Given the description of an element on the screen output the (x, y) to click on. 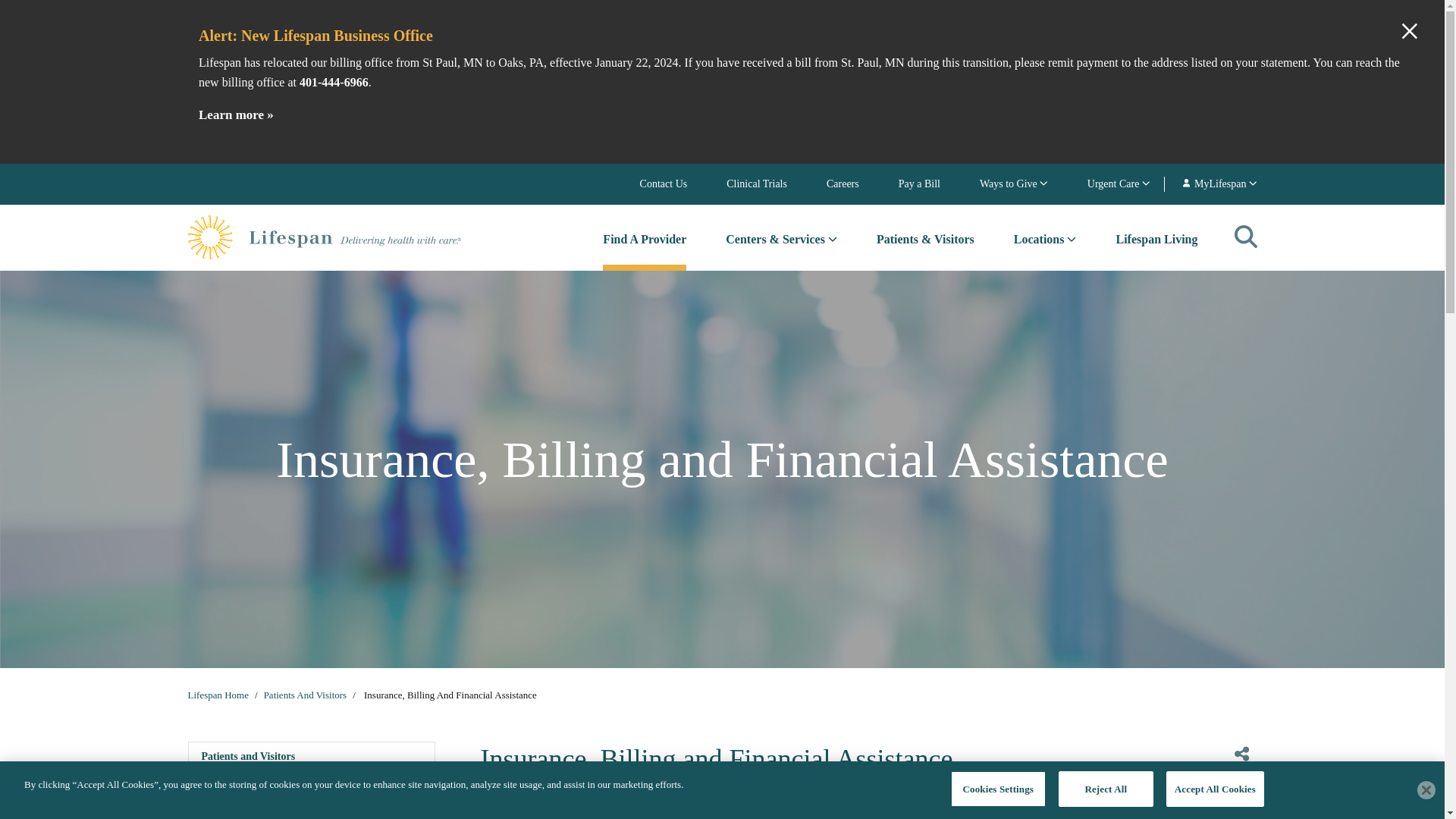
New Lifespan Business Office Location (235, 115)
Pay a bill online (919, 183)
